Given the description of an element on the screen output the (x, y) to click on. 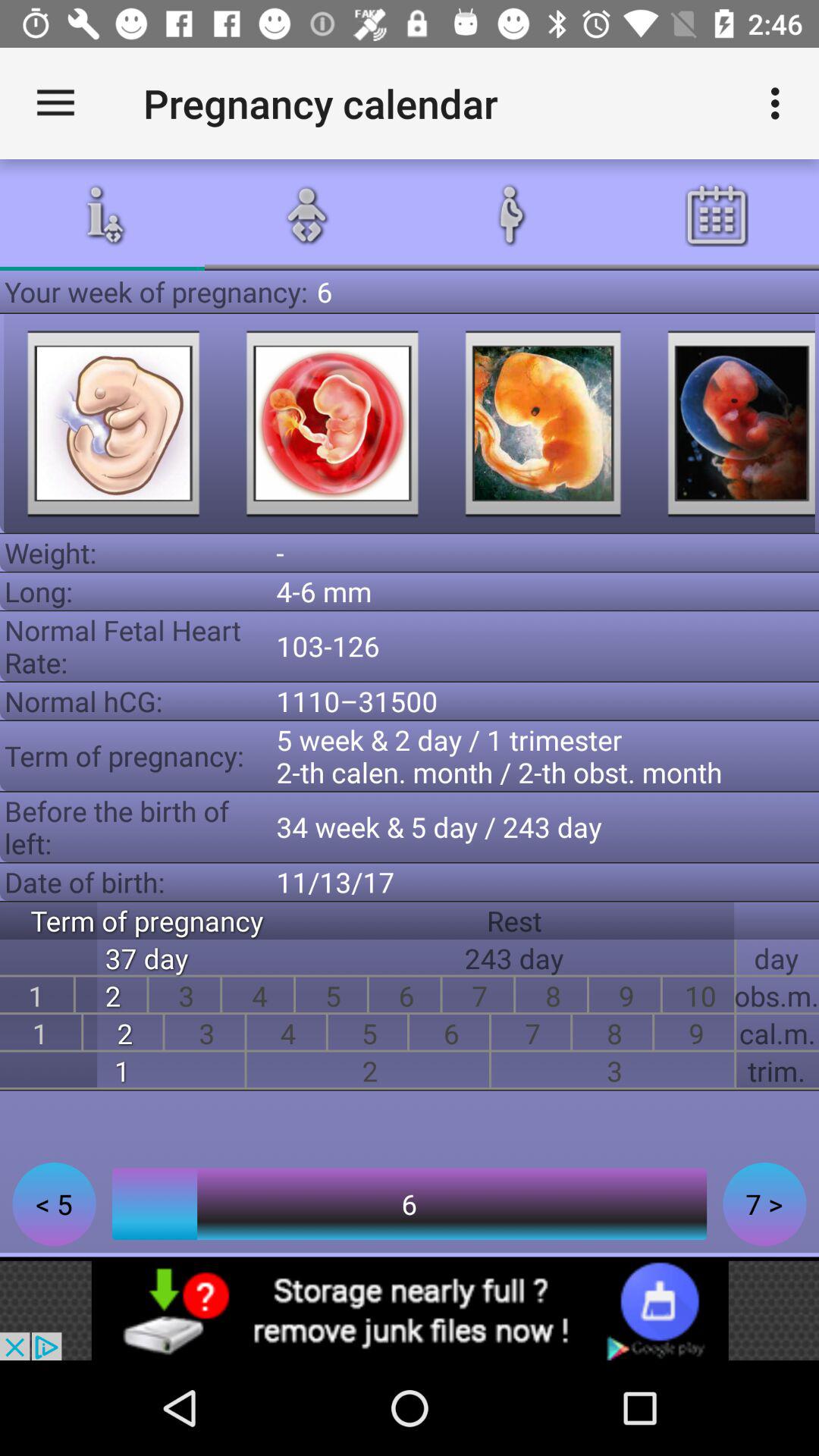
display picture (542, 422)
